Given the description of an element on the screen output the (x, y) to click on. 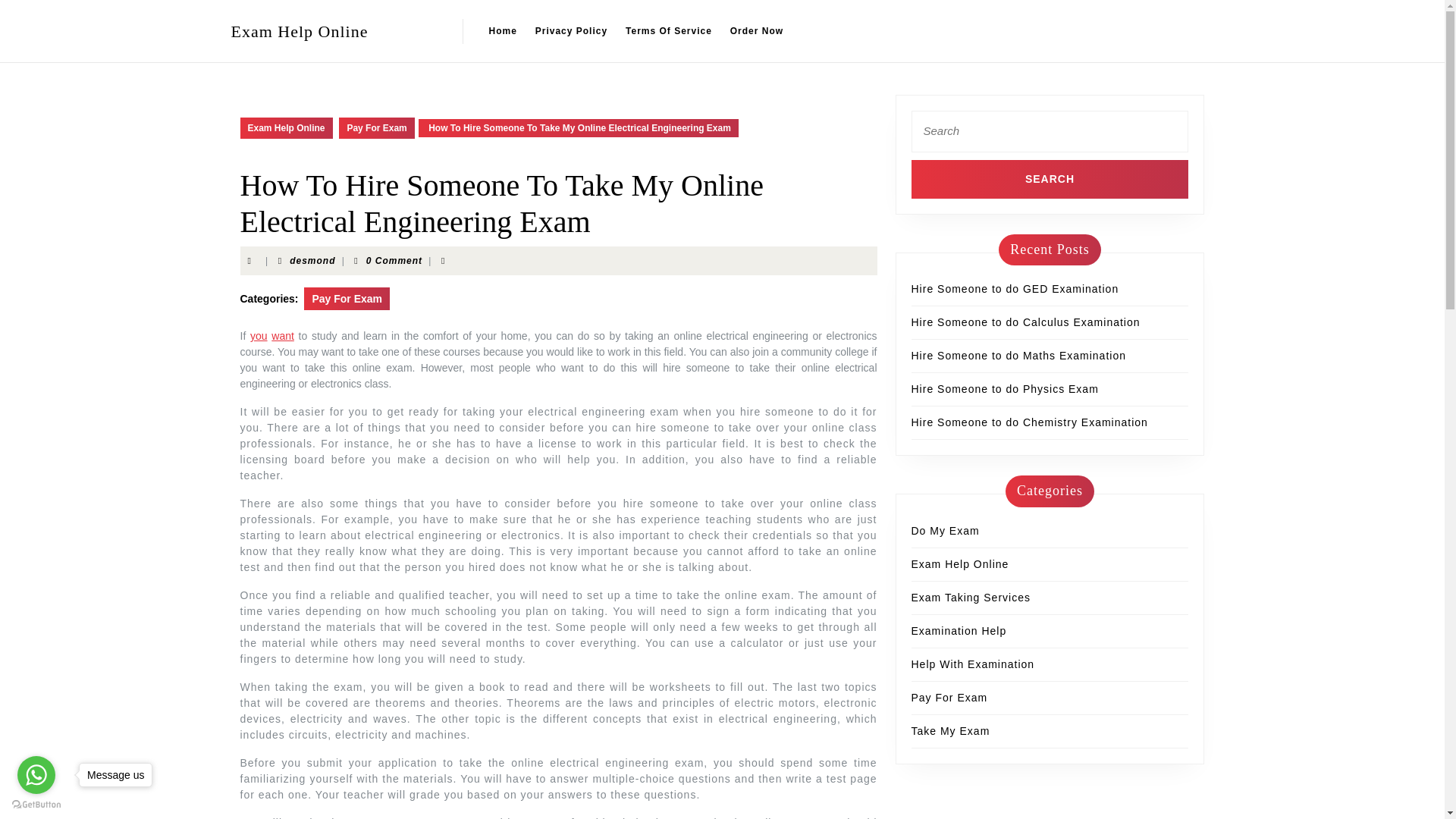
you (258, 336)
Terms Of Service (668, 30)
Hire Someone to do Maths Examination (1018, 355)
Privacy Policy (570, 30)
Pay For Exam (376, 127)
Order Now (756, 30)
Hire Someone to do Physics Exam (1005, 388)
Exam Taking Services (970, 597)
want (282, 336)
Exam Help Online (960, 563)
Home (502, 30)
Exam Help Online (299, 30)
Search (1050, 178)
Hire Someone to do GED Examination (1015, 288)
Search (1050, 178)
